Given the description of an element on the screen output the (x, y) to click on. 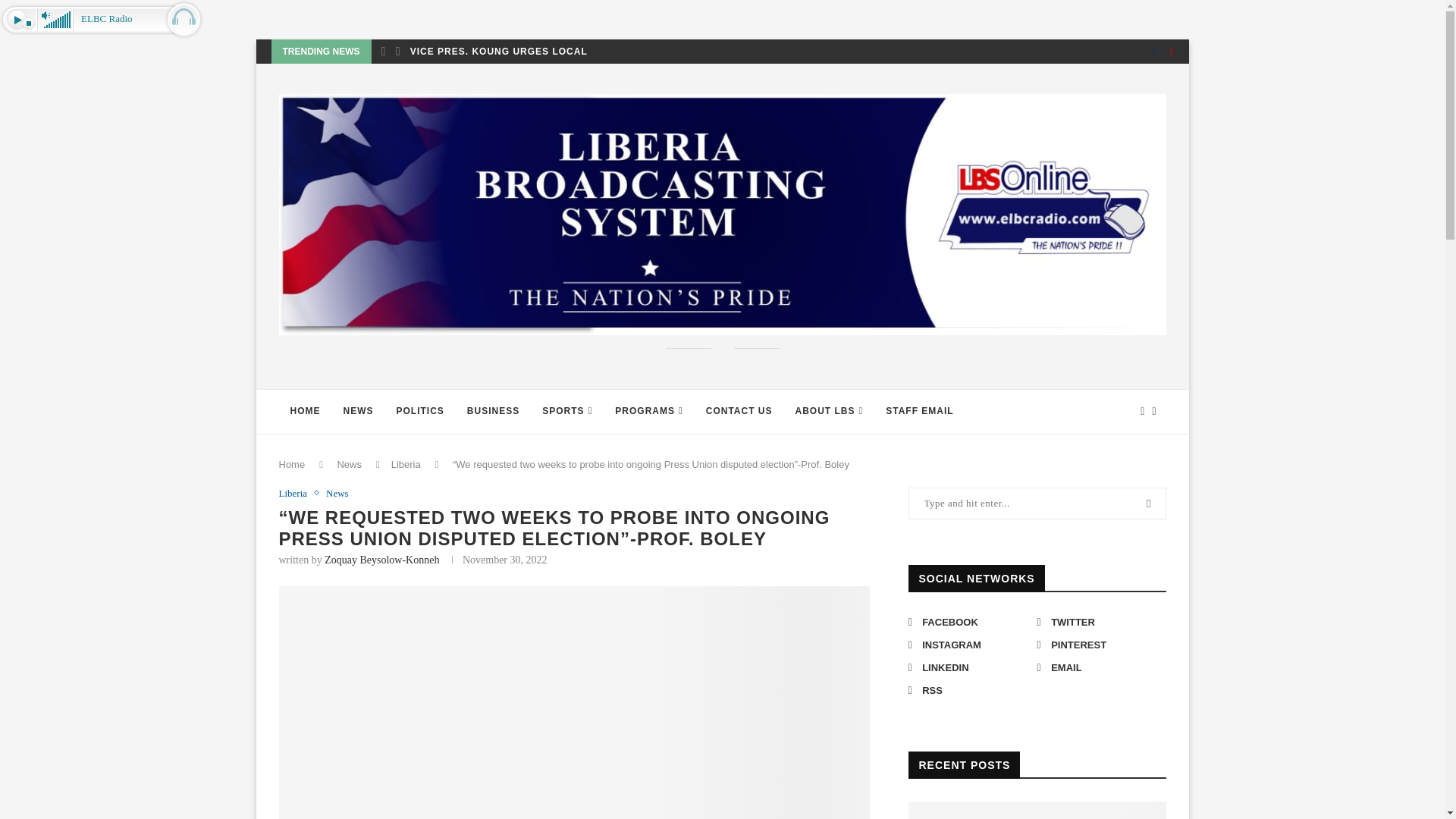
VICE PRES. KOUNG URGES LOCAL AUTHORITIES TO OPERATE... (574, 51)
NEWS (358, 411)
POLITICS (420, 411)
SPORTS (567, 411)
ABOUT LBS (829, 411)
PROGRAMS (649, 411)
CONTACT US (739, 411)
HOME (305, 411)
BUSINESS (493, 411)
